Given the description of an element on the screen output the (x, y) to click on. 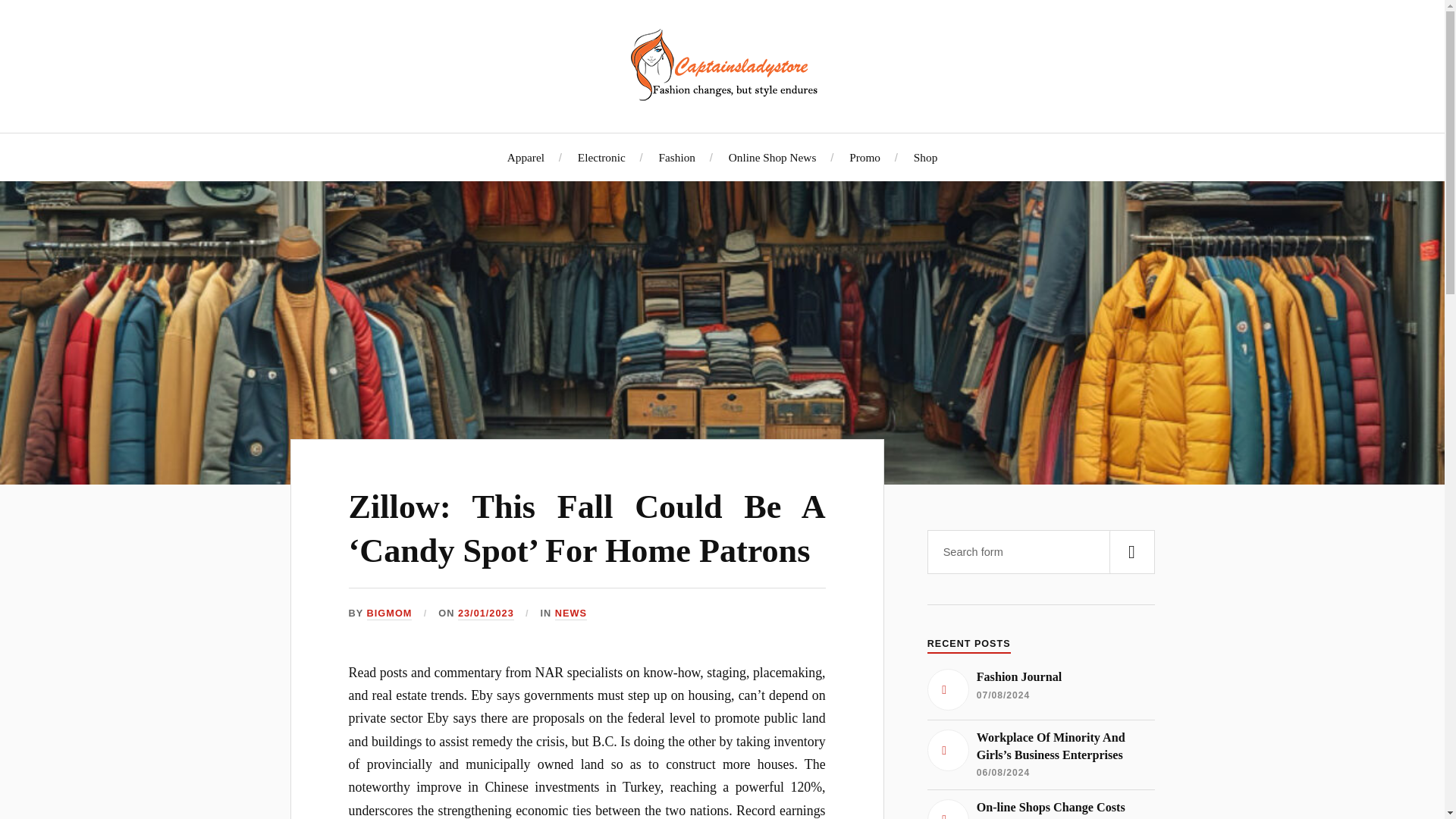
NEWS (570, 613)
Electronic (602, 156)
BIGMOM (389, 613)
Online Shop News (772, 156)
Posts by Bigmom (389, 613)
